Given the description of an element on the screen output the (x, y) to click on. 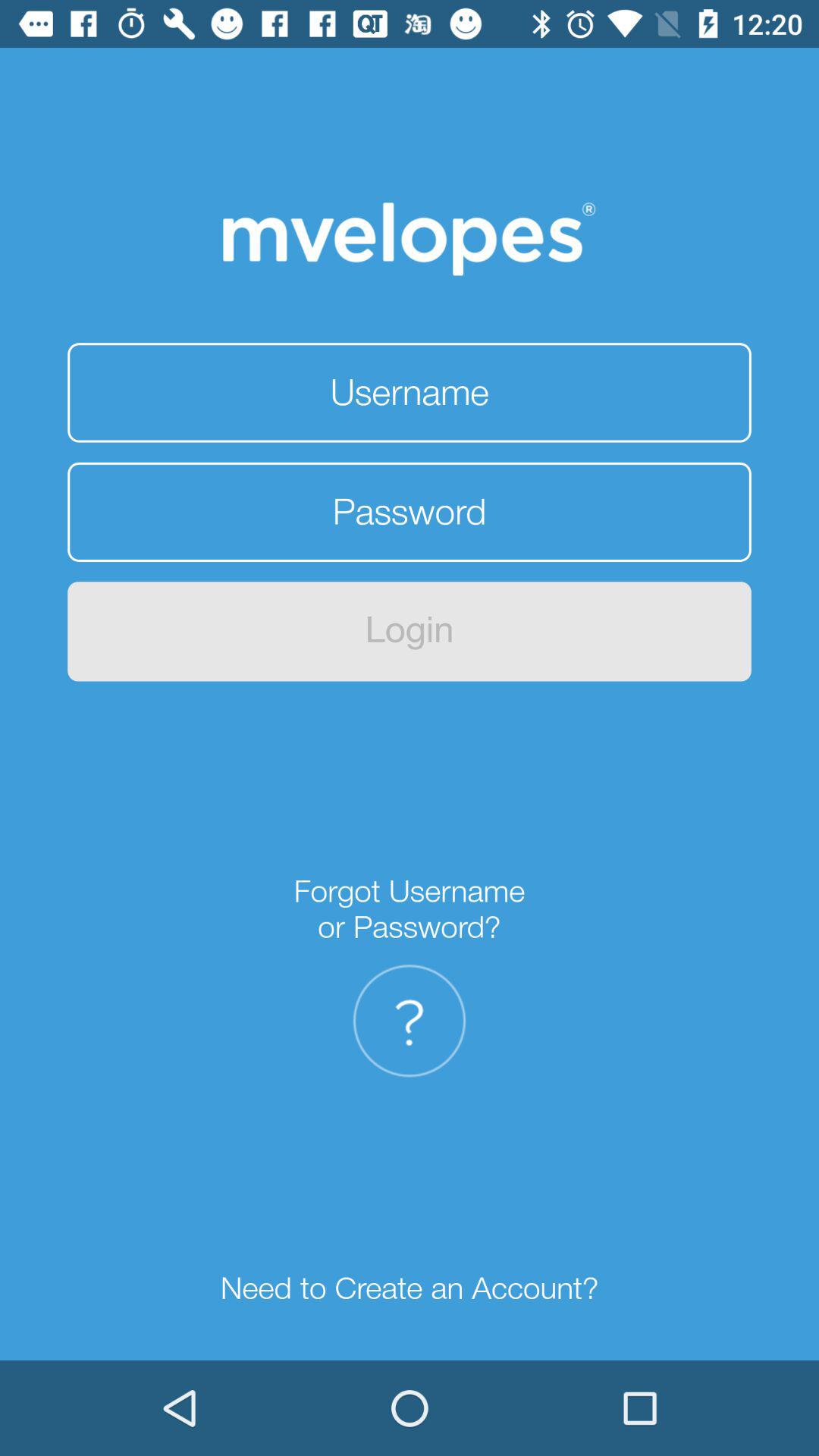
enter your password (409, 511)
